Given the description of an element on the screen output the (x, y) to click on. 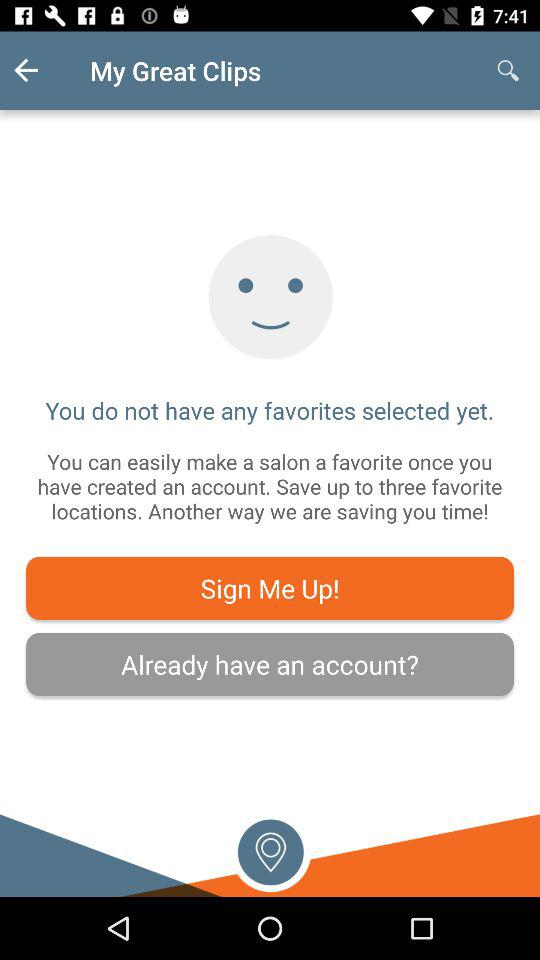
toggle location (270, 850)
